Given the description of an element on the screen output the (x, y) to click on. 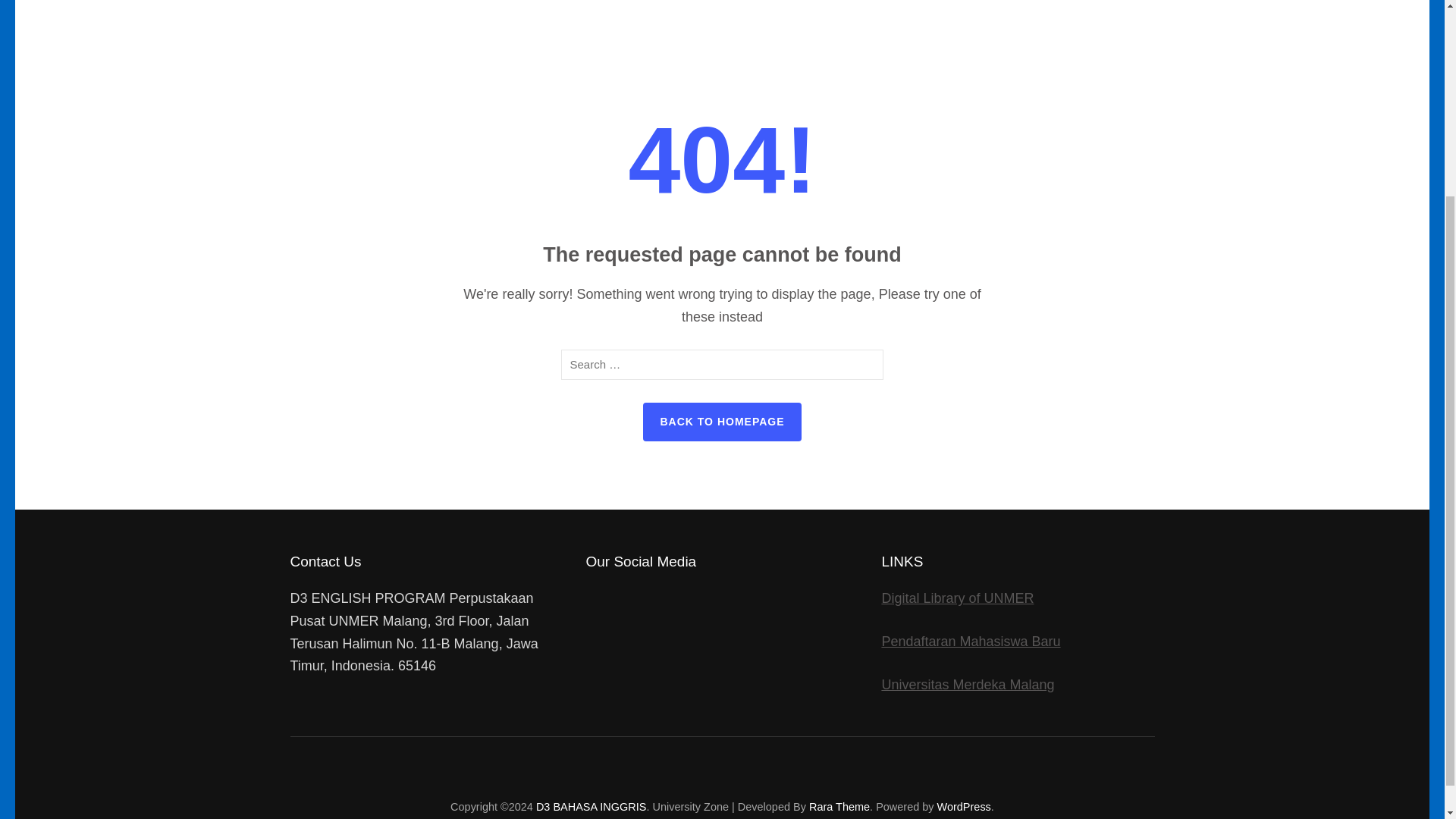
Search (866, 364)
Search (866, 364)
Search (866, 364)
BACK TO HOMEPAGE (721, 422)
